Given the description of an element on the screen output the (x, y) to click on. 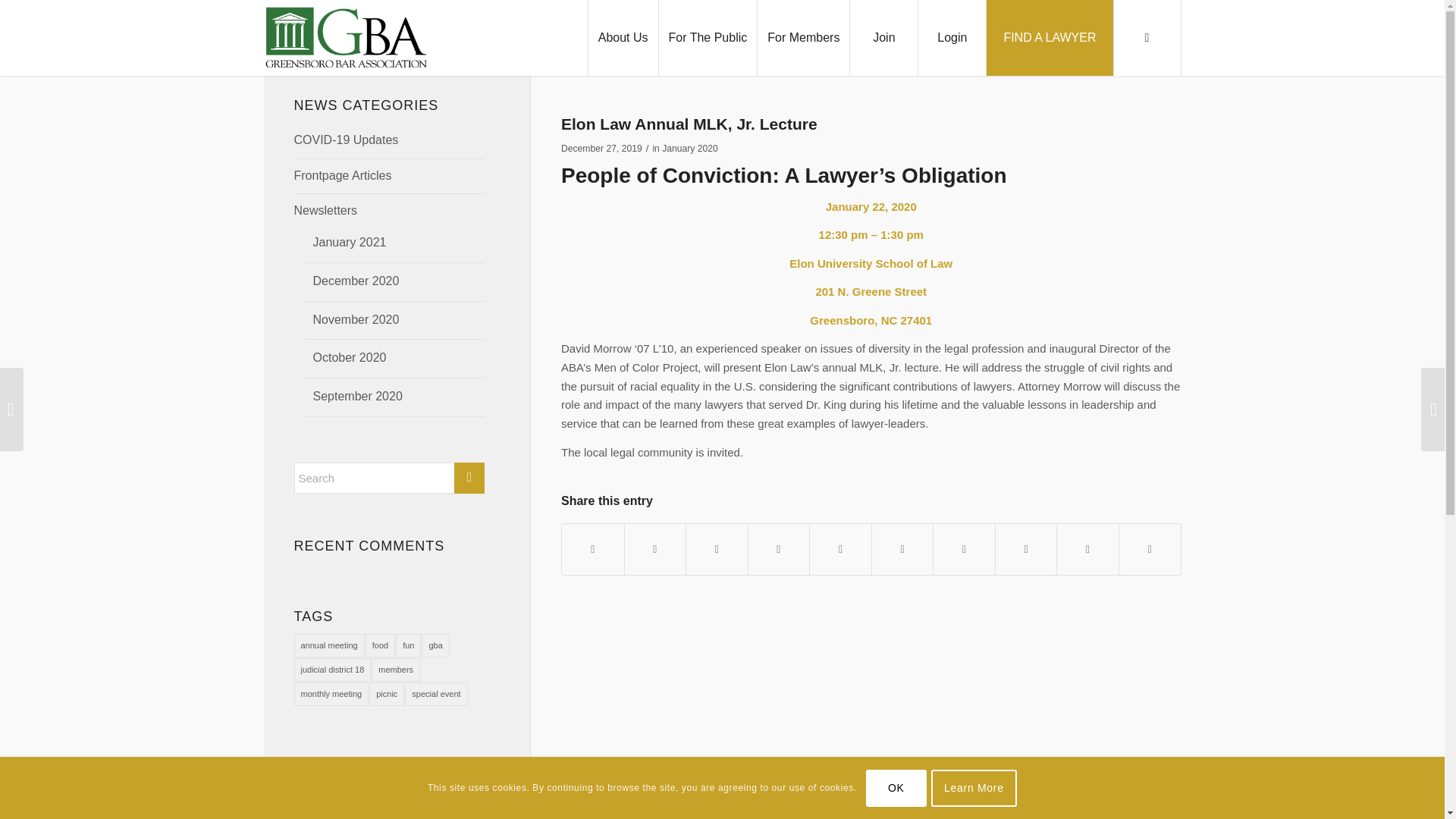
About Us (623, 38)
GBA-Logo-2 (346, 38)
GBA-Logo-White (377, 812)
Join (882, 38)
For The Public (707, 38)
For Members (802, 38)
